Given the description of an element on the screen output the (x, y) to click on. 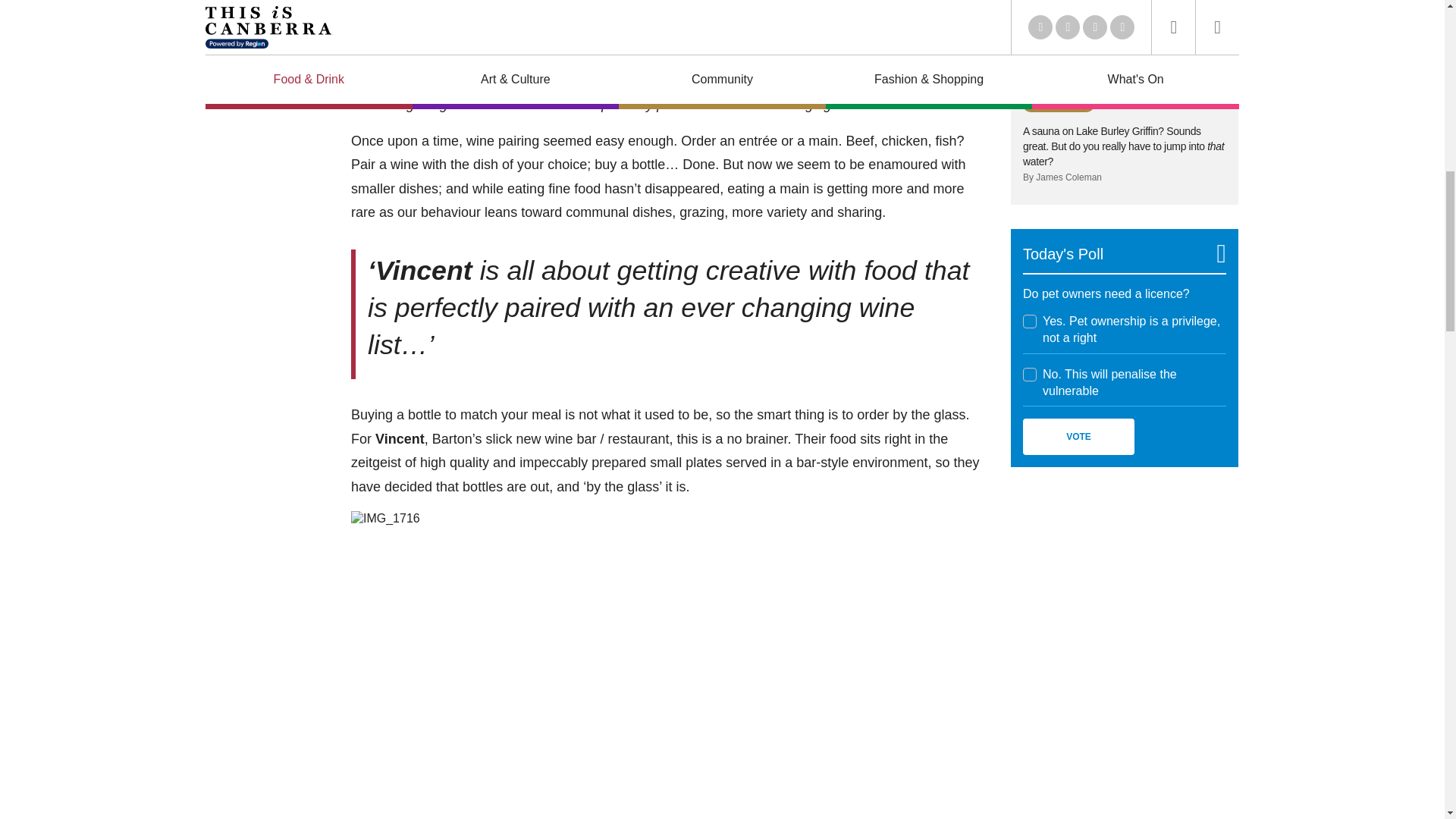
   Vote    (1078, 436)
1 (1029, 321)
2 (1029, 374)
